Given the description of an element on the screen output the (x, y) to click on. 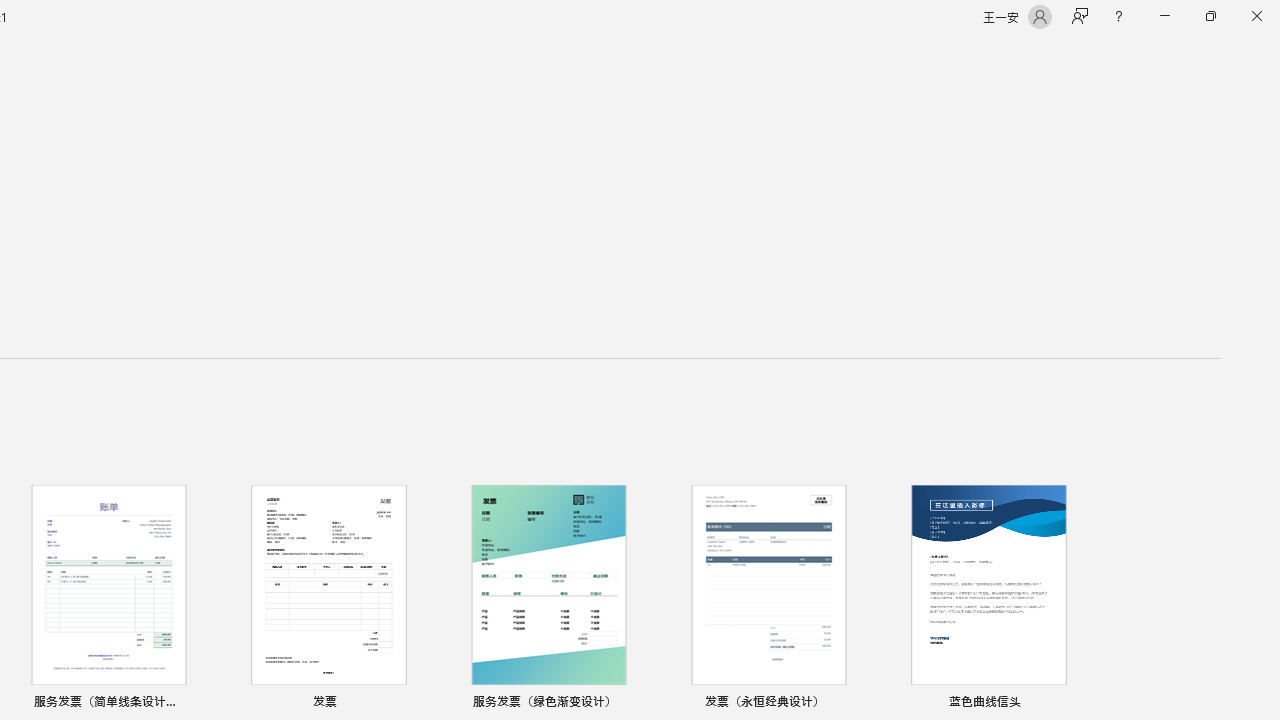
Close (1256, 16)
Minimize (1164, 16)
Pin to list (1075, 703)
Help (1118, 16)
Restore Down (1210, 16)
